Given the description of an element on the screen output the (x, y) to click on. 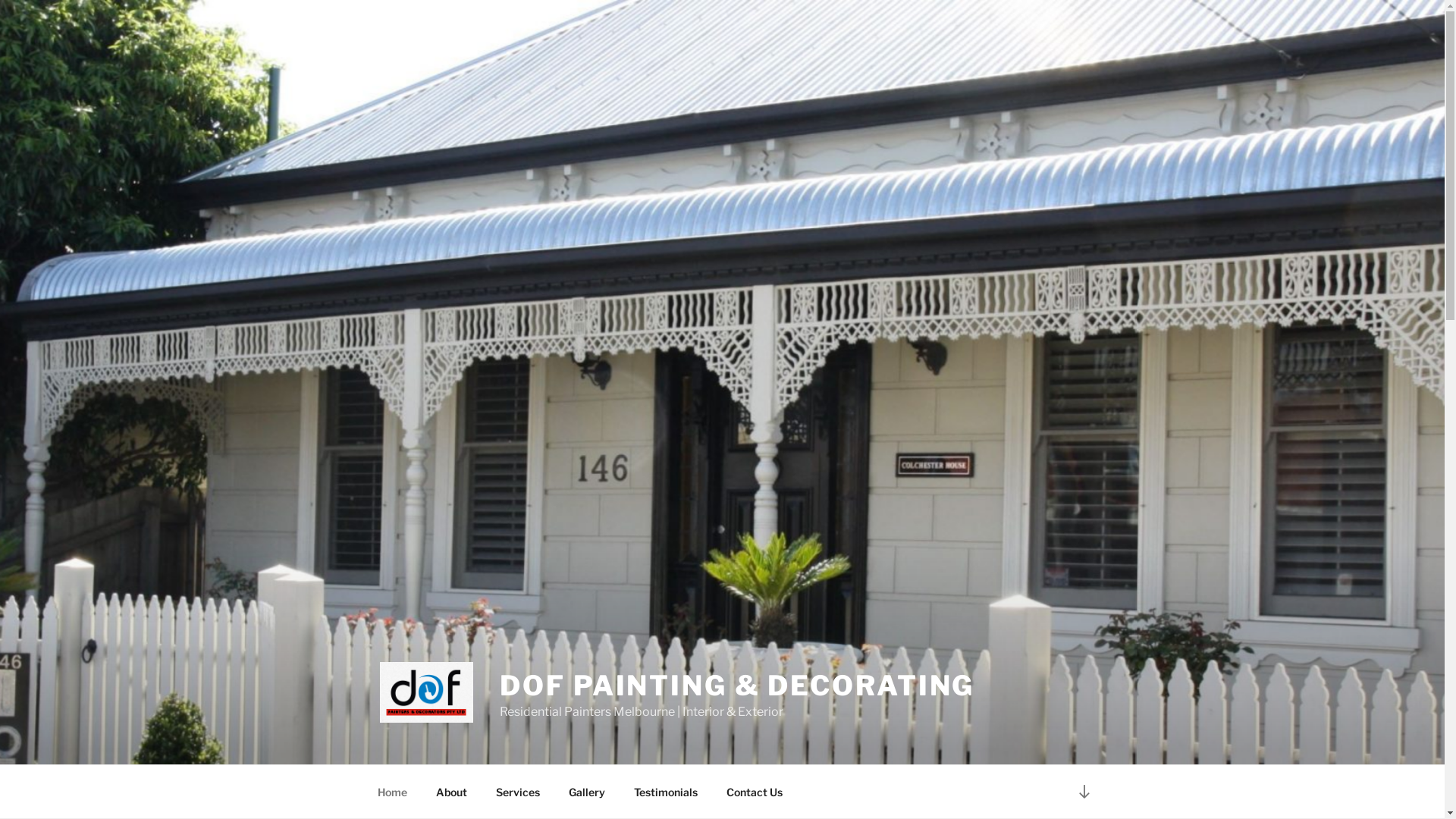
DOF PAINTING & DECORATING Element type: text (736, 685)
About Element type: text (451, 791)
Services Element type: text (517, 791)
Home Element type: text (392, 791)
Scroll down to content Element type: text (1083, 790)
Contact Us Element type: text (753, 791)
Gallery Element type: text (586, 791)
Testimonials Element type: text (665, 791)
